Given the description of an element on the screen output the (x, y) to click on. 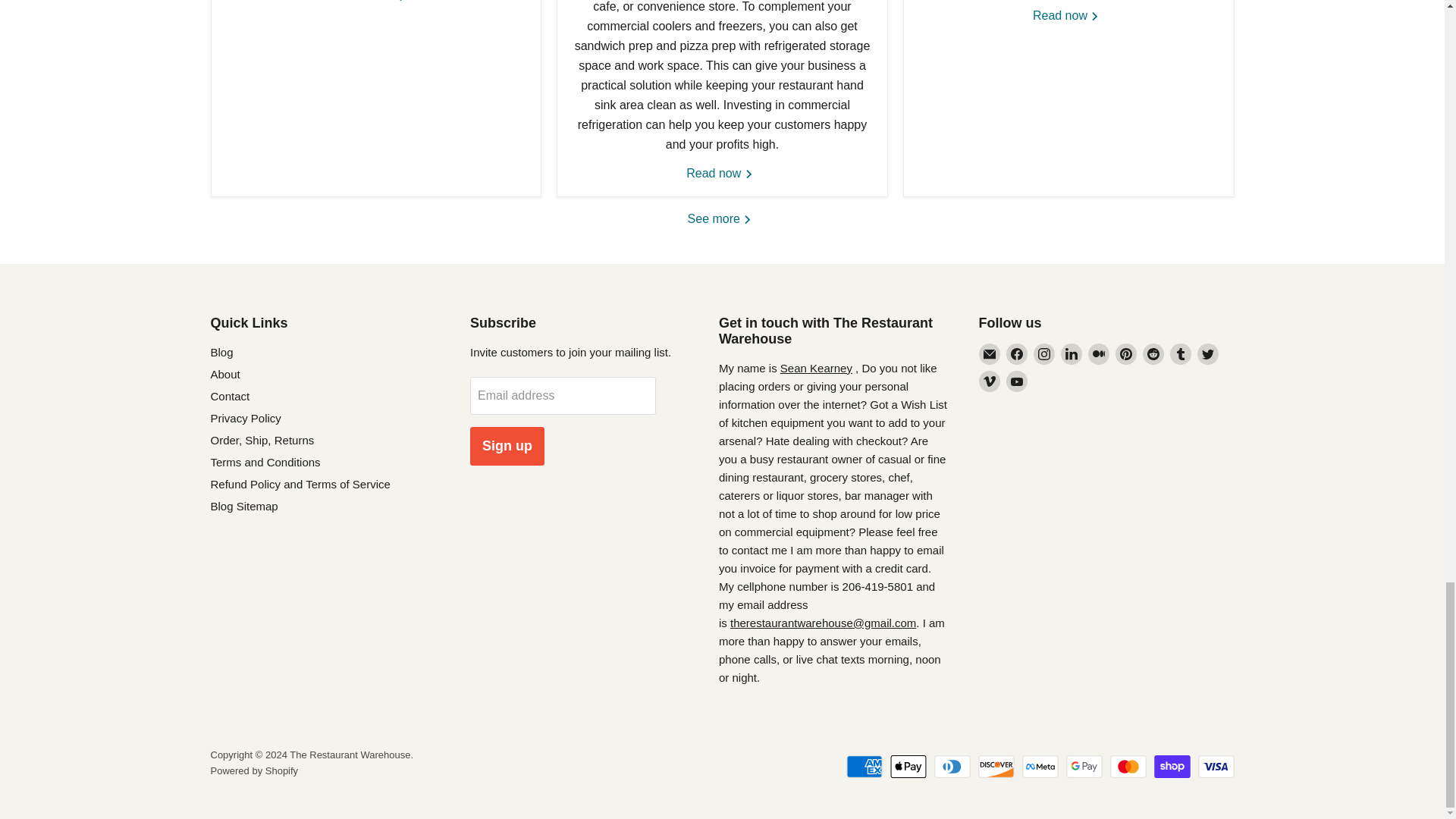
Vimeo (988, 381)
Reddit (1152, 353)
Facebook (1016, 353)
Instagram (1043, 353)
The Restaurant Warehouse (822, 622)
YouTube (1016, 381)
Pinterest (1125, 353)
LinkedIn (1070, 353)
Twitter (1206, 353)
Email (988, 353)
